Given the description of an element on the screen output the (x, y) to click on. 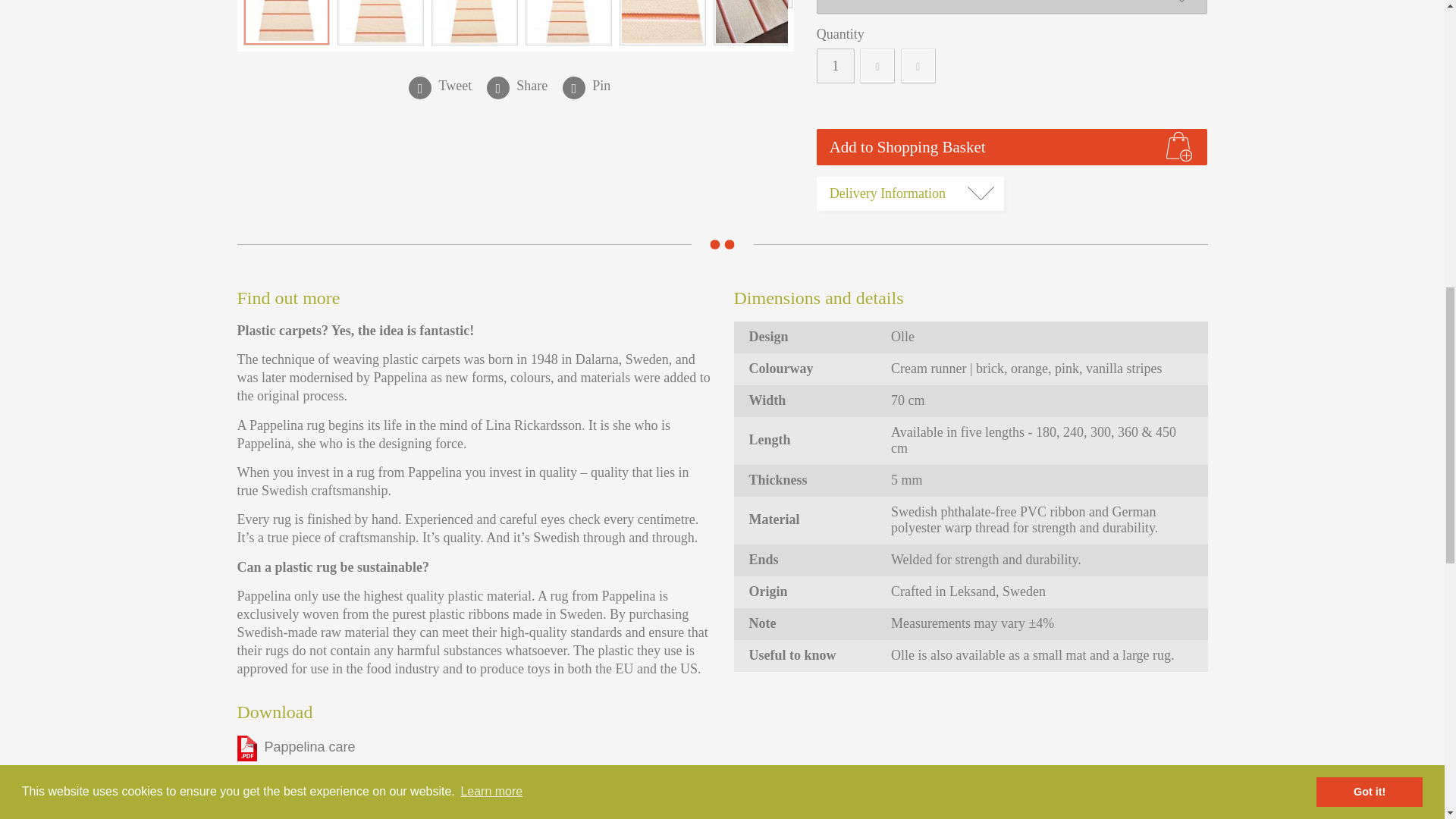
1 (835, 65)
